Given the description of an element on the screen output the (x, y) to click on. 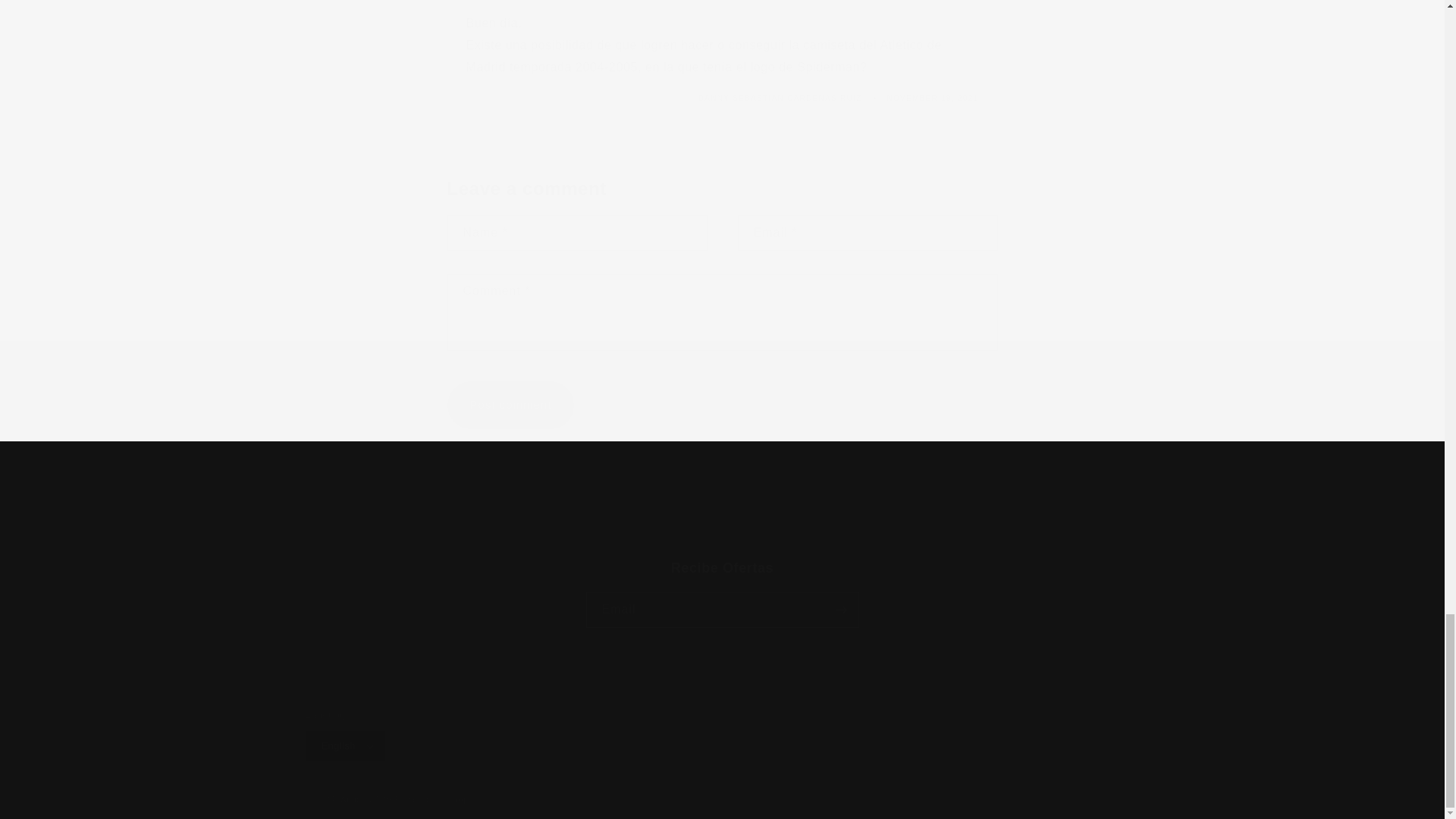
Post comment (510, 405)
